Given the description of an element on the screen output the (x, y) to click on. 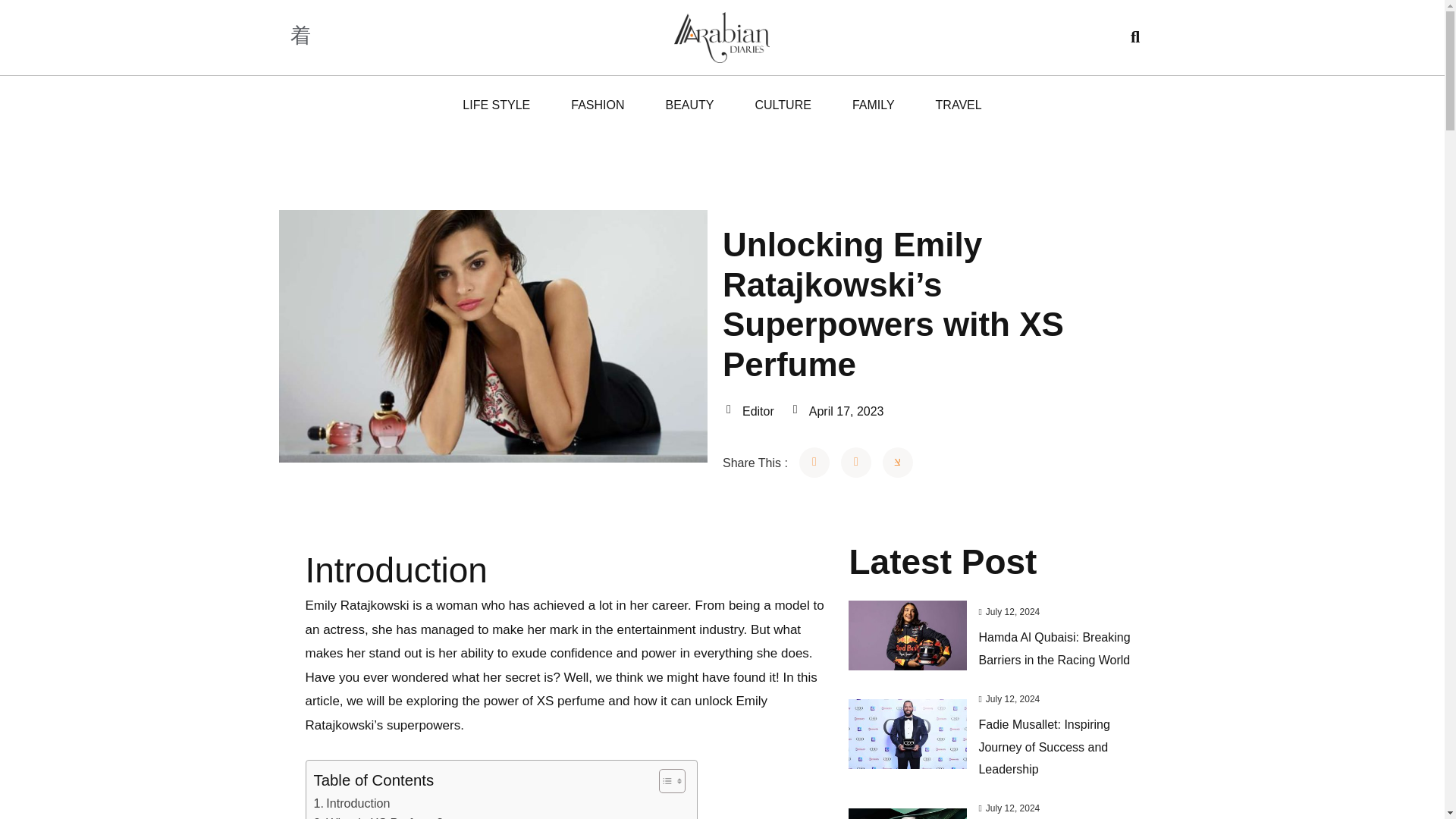
Introduction (352, 803)
What is XS Perfume? (379, 816)
